Given the description of an element on the screen output the (x, y) to click on. 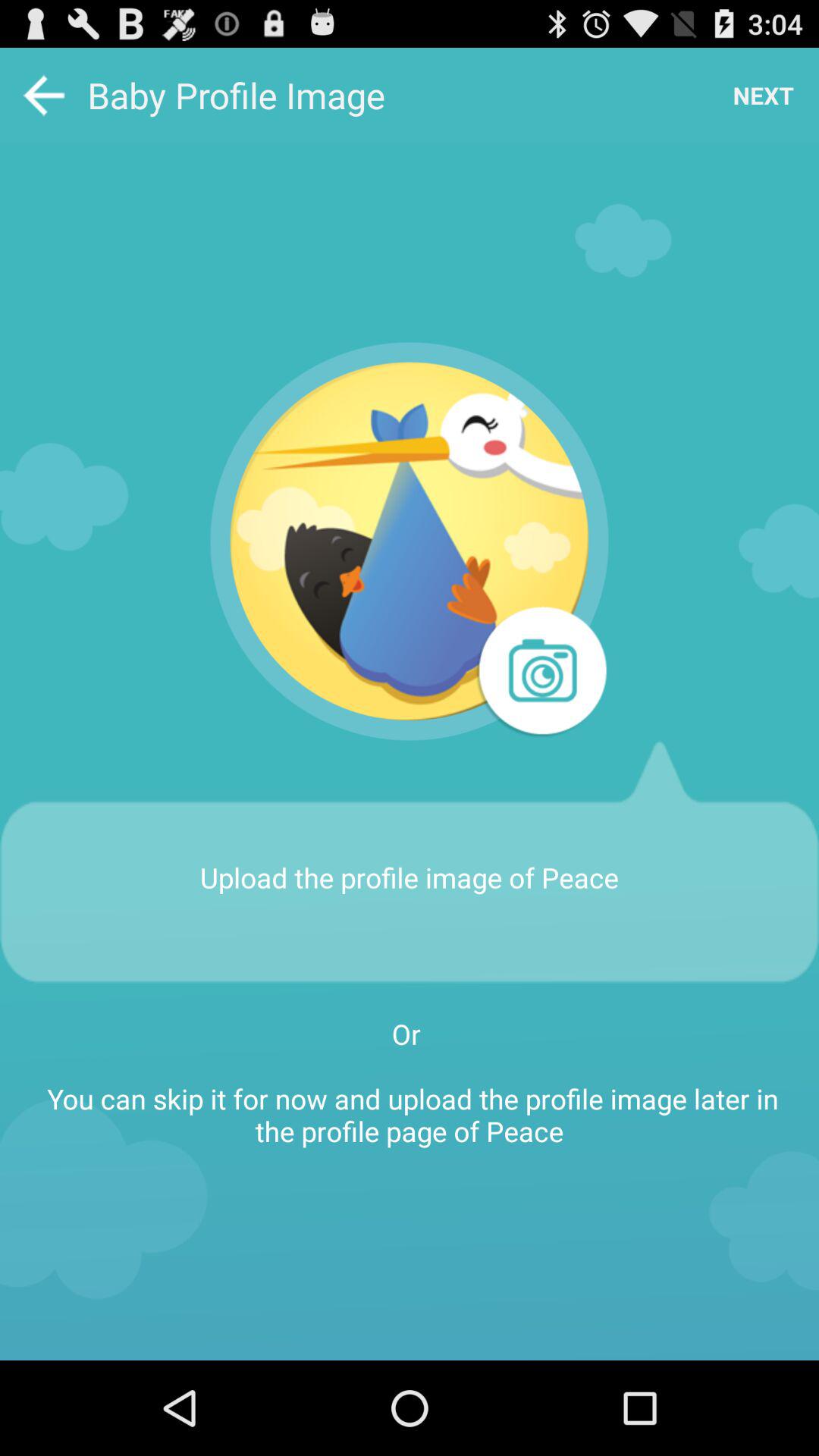
take picture (540, 672)
